Given the description of an element on the screen output the (x, y) to click on. 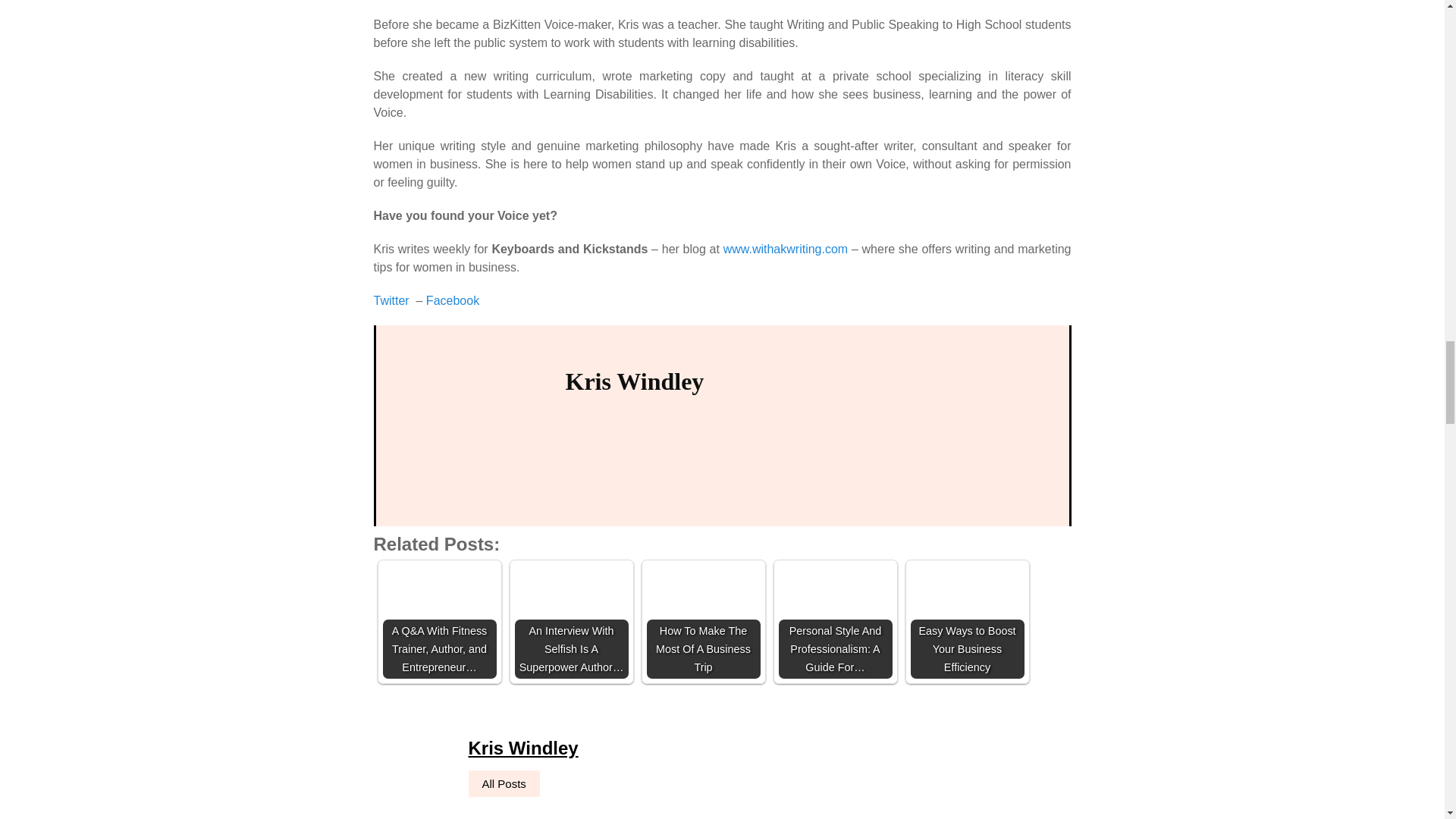
How To Make The Most Of A Business Trip (703, 621)
Easy Ways to Boost Your Business Efficiency (966, 621)
